Given the description of an element on the screen output the (x, y) to click on. 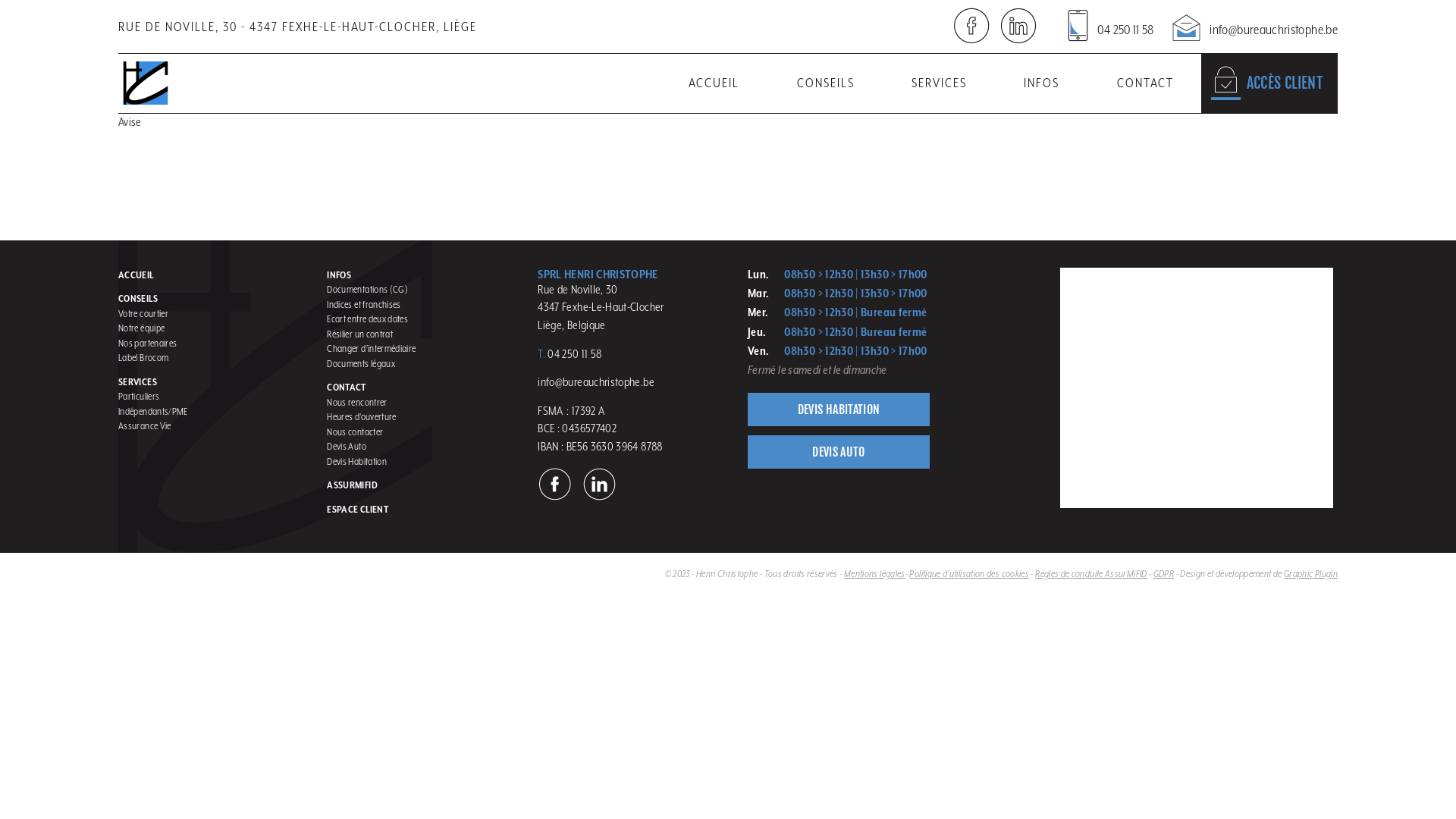
info@bureauchristophe.be Element type: text (1254, 22)
Profil Linkedin du Bureau Henri Christophe Element type: hover (1018, 25)
GDPR Element type: text (1163, 573)
Nos partenaires Element type: text (147, 342)
Profil Linkedin du Bureau Henri Christophe Element type: hover (599, 484)
Page Facebook du Bureau Henri Christophe Element type: hover (554, 484)
Devis Habitation Element type: text (356, 461)
INFOS Element type: text (1041, 82)
SERVICES Element type: text (137, 381)
ACCUEIL Element type: text (135, 274)
ASSURMIFID Element type: text (351, 484)
CONSEILS Element type: text (825, 82)
Documentations (CG) Element type: text (366, 288)
04 250 11 58 Element type: text (1110, 22)
Assurance Vie Element type: text (144, 425)
CONTACT Element type: text (1145, 82)
ESPACE CLIENT Element type: text (357, 508)
CONTACT Element type: text (346, 386)
Particuliers Element type: text (138, 395)
Indices et franchises Element type: text (363, 304)
Label Brocom Element type: text (143, 357)
SERVICES Element type: text (938, 82)
Nous contacter Element type: text (354, 431)
Devis Auto Element type: text (346, 445)
Votre courtier Element type: text (143, 313)
Nous rencontrer Element type: text (356, 401)
INFOS Element type: text (338, 274)
DEVIS HABITATION Element type: text (838, 408)
Ecart entre deux dates Element type: text (366, 318)
Bureau Christophe - Courtier et Conseils en Assurances Element type: text (1182, 274)
DEVIS AUTO Element type: text (838, 451)
ACCUEIL Element type: text (713, 82)
Page Facebook du Bureau Henri Christophe Element type: hover (971, 25)
Graphic Plugin Element type: text (1310, 573)
Heures d'ouverture Element type: text (360, 416)
CONSEILS Element type: text (137, 298)
